Given the description of an element on the screen output the (x, y) to click on. 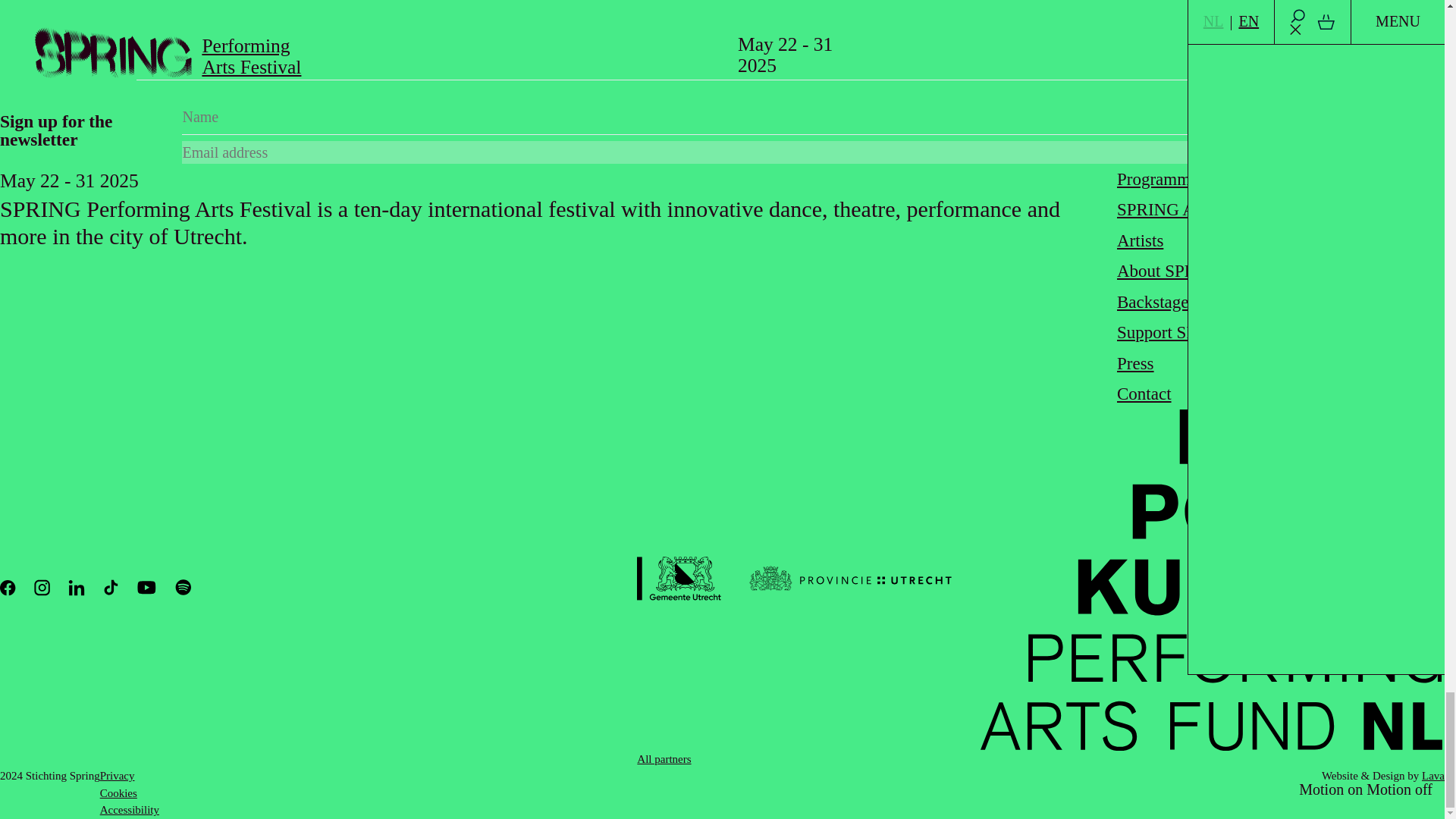
Backstage (1152, 302)
Subscribe (1377, 144)
Subscribe (722, 47)
Contact (1377, 144)
Artists (1144, 393)
Support SPRING (1139, 240)
About SPRING (1177, 332)
Programme 2024 (1171, 270)
SPRING Academy (1176, 179)
Press (1182, 209)
Archive (1135, 363)
